Given the description of an element on the screen output the (x, y) to click on. 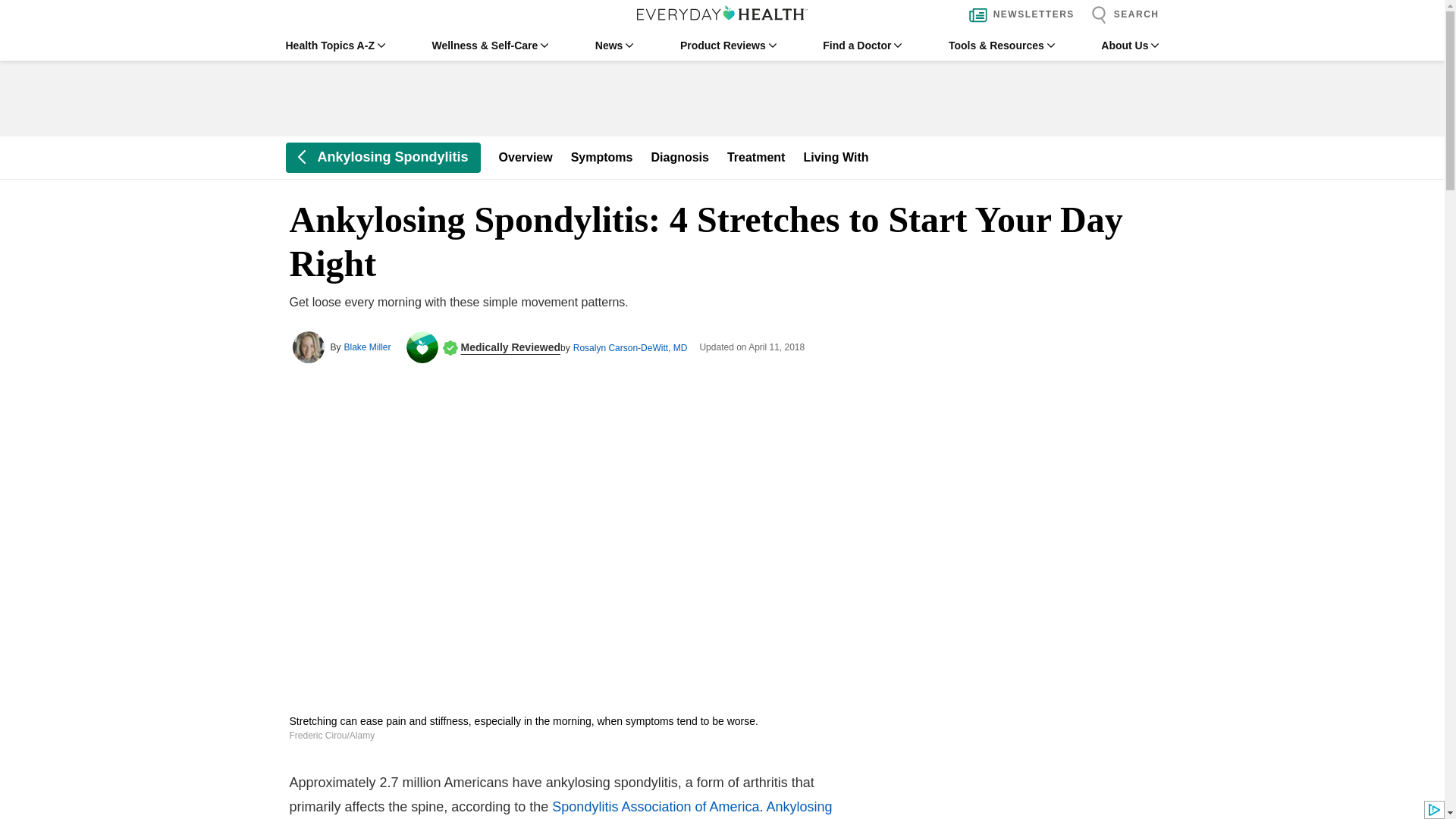
NEWSLETTERS (1018, 15)
Product Reviews (727, 45)
About Us (1129, 45)
Health Topics A-Z (334, 45)
News (614, 45)
SEARCH (1120, 15)
Find a Doctor (861, 45)
